Given the description of an element on the screen output the (x, y) to click on. 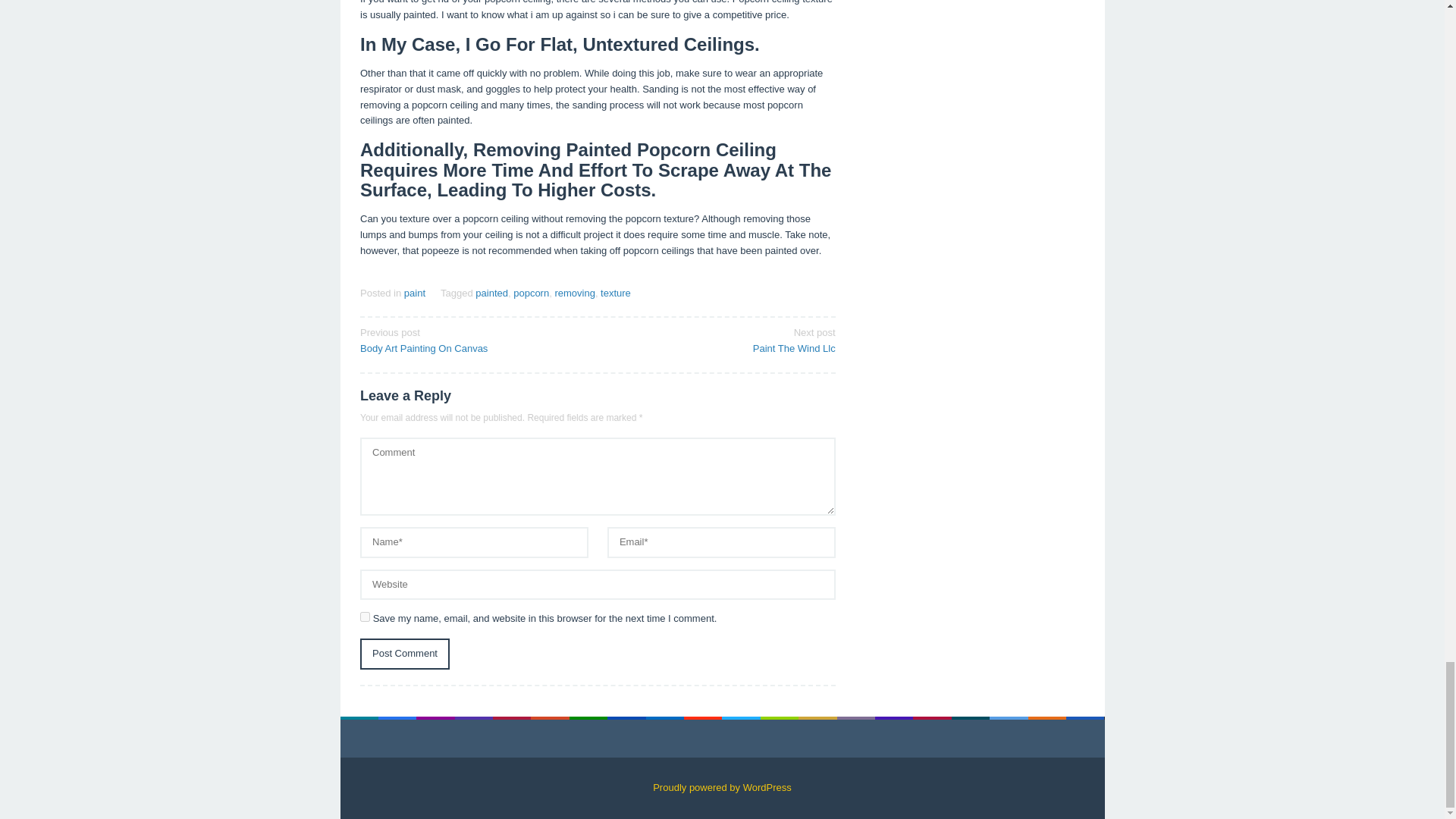
yes (364, 616)
removing (574, 292)
painted (492, 292)
popcorn (530, 292)
paint (473, 339)
Post Comment (414, 292)
Post Comment (721, 339)
texture (404, 653)
